Given the description of an element on the screen output the (x, y) to click on. 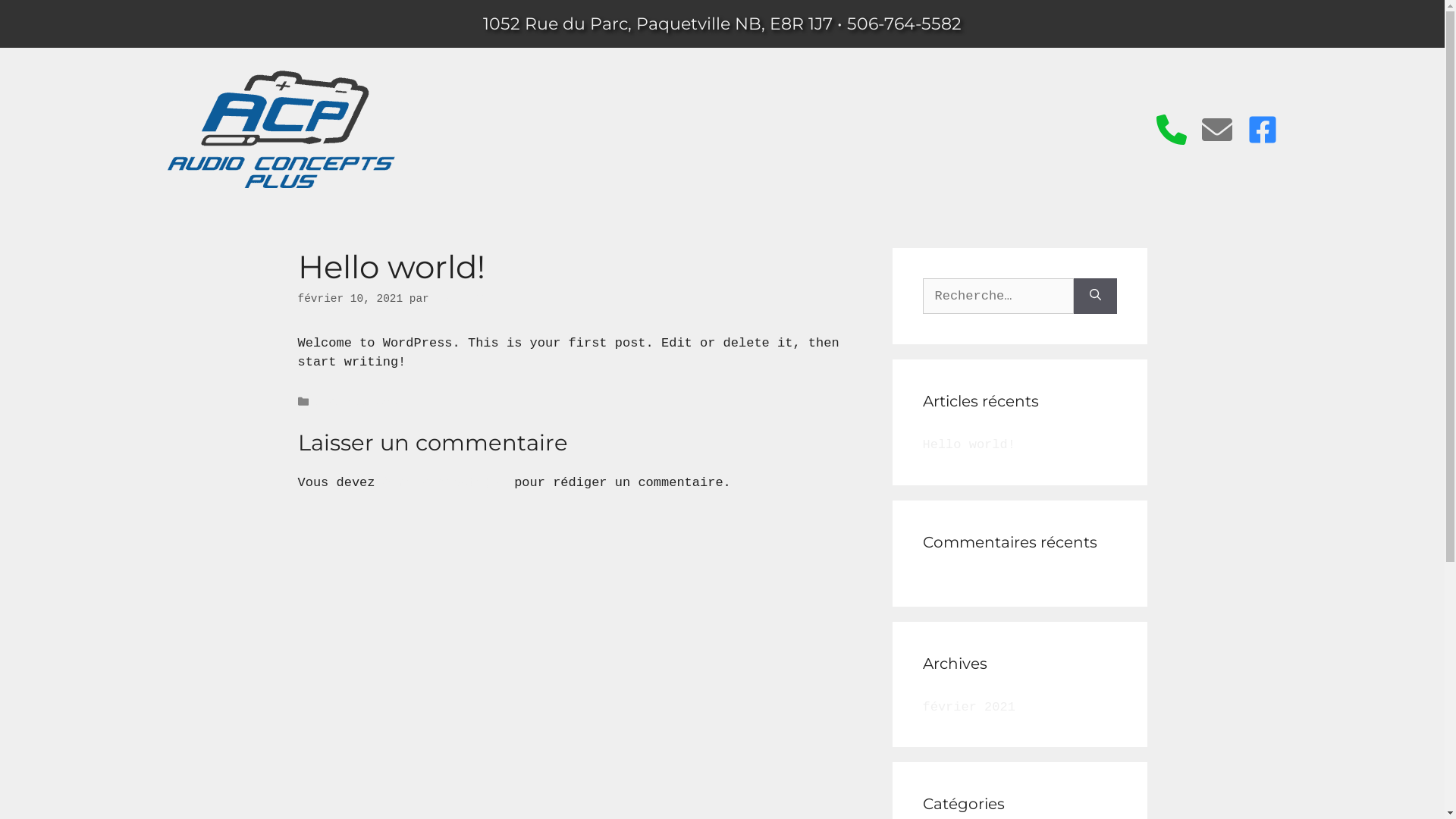
nomad411 Element type: text (461, 298)
506-764-5582 Element type: text (904, 23)
Audio Concept Plus Element type: hover (280, 129)
Audio Concept Plus Element type: hover (280, 184)
1052 Rue du Parc, Paquetville NB, E8R 1J7 Element type: text (657, 23)
Hello world! Element type: text (968, 444)
Uncategorized Element type: text (358, 401)
